Given the description of an element on the screen output the (x, y) to click on. 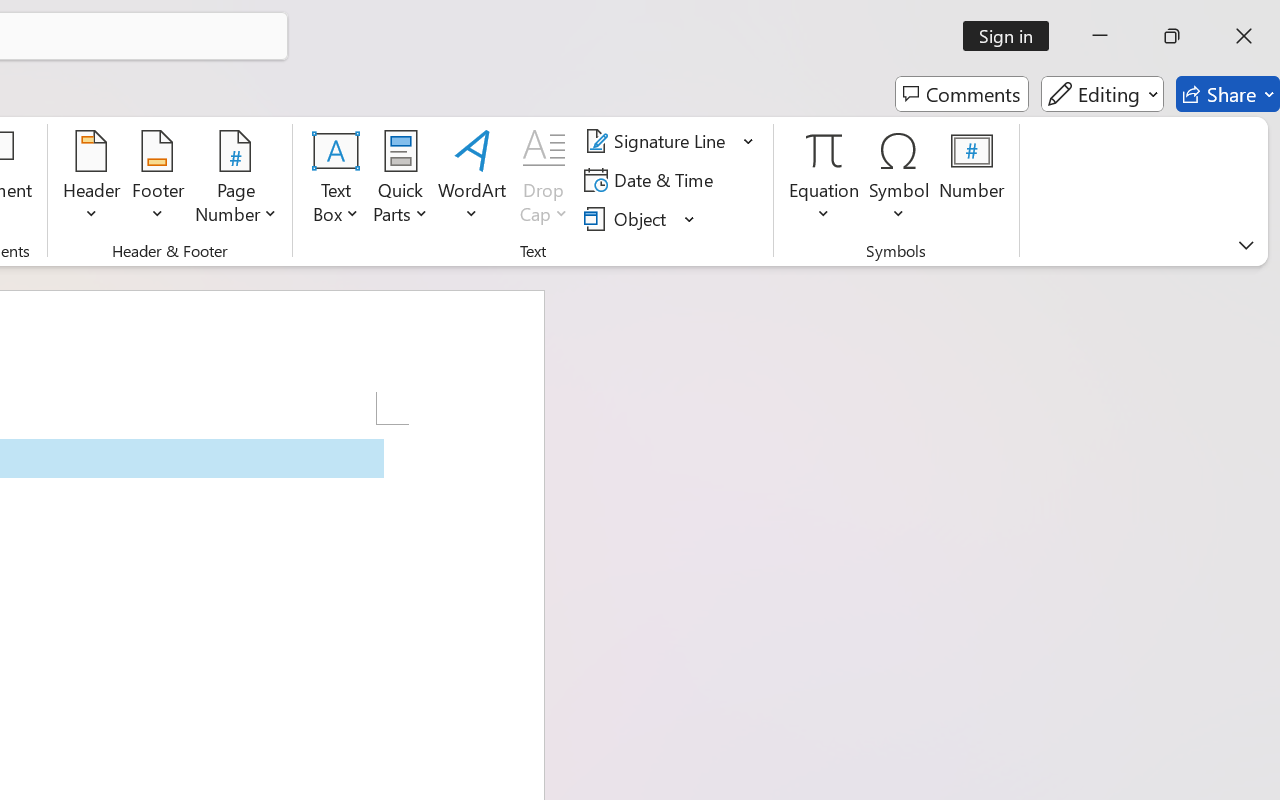
Object... (640, 218)
Number... (971, 179)
Quick Parts (400, 179)
Equation (823, 150)
Sign in (1012, 35)
Editing (1101, 94)
Signature Line (658, 141)
Equation (823, 179)
Object... (628, 218)
Footer (157, 179)
WordArt (472, 179)
